Given the description of an element on the screen output the (x, y) to click on. 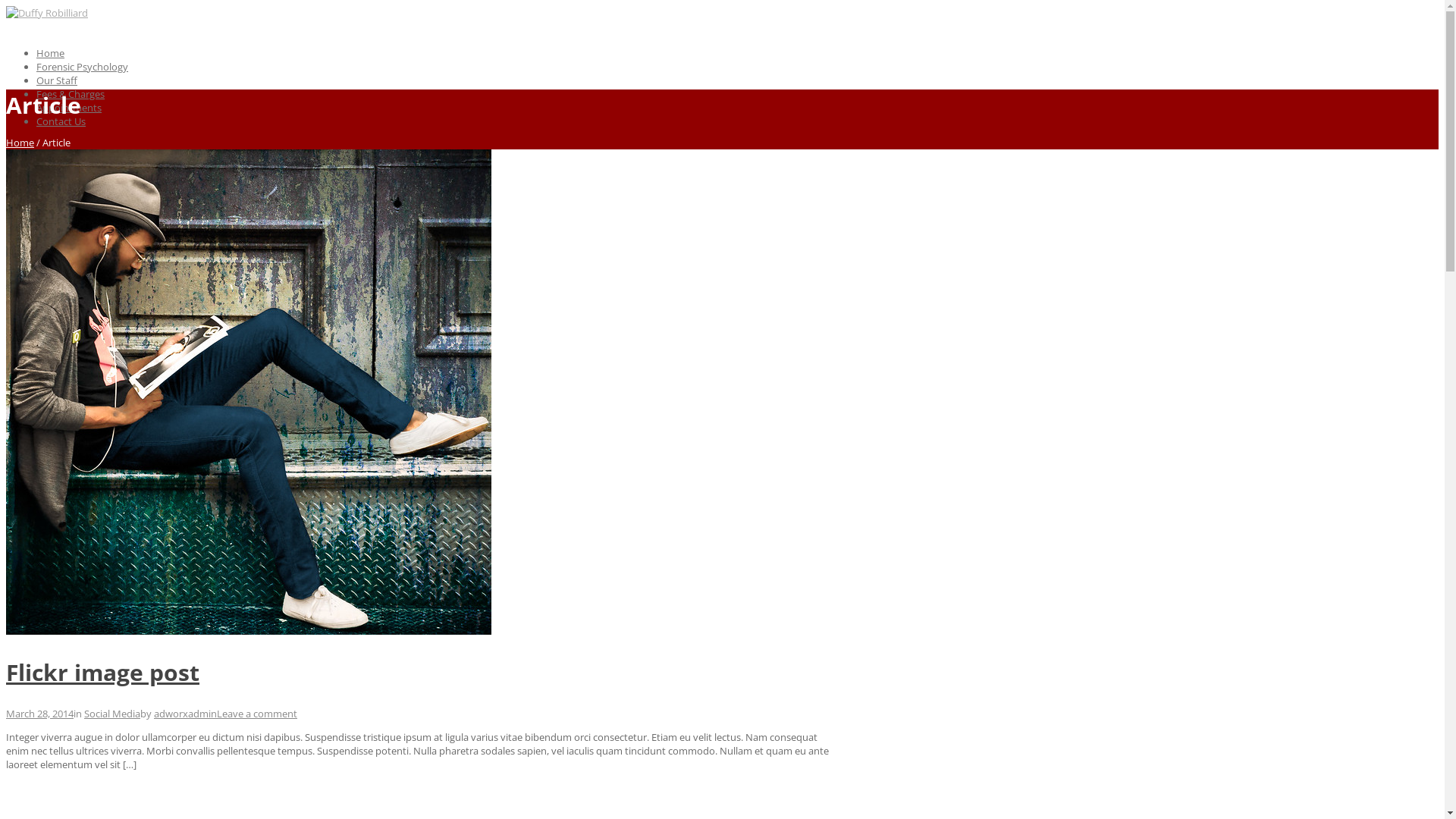
Our Staff Element type: text (56, 80)
Contact Us Element type: text (60, 121)
Leave a comment Element type: text (256, 713)
Social Media Element type: text (112, 713)
adworxadmin Element type: text (184, 713)
Home Element type: text (50, 52)
Flickr image post Element type: text (102, 671)
March 28, 2014 Element type: text (39, 713)
Fees & Charges Element type: text (70, 93)
Home Element type: text (20, 142)
Appointments Element type: text (68, 107)
Forensic Psychology Element type: text (82, 66)
